Given the description of an element on the screen output the (x, y) to click on. 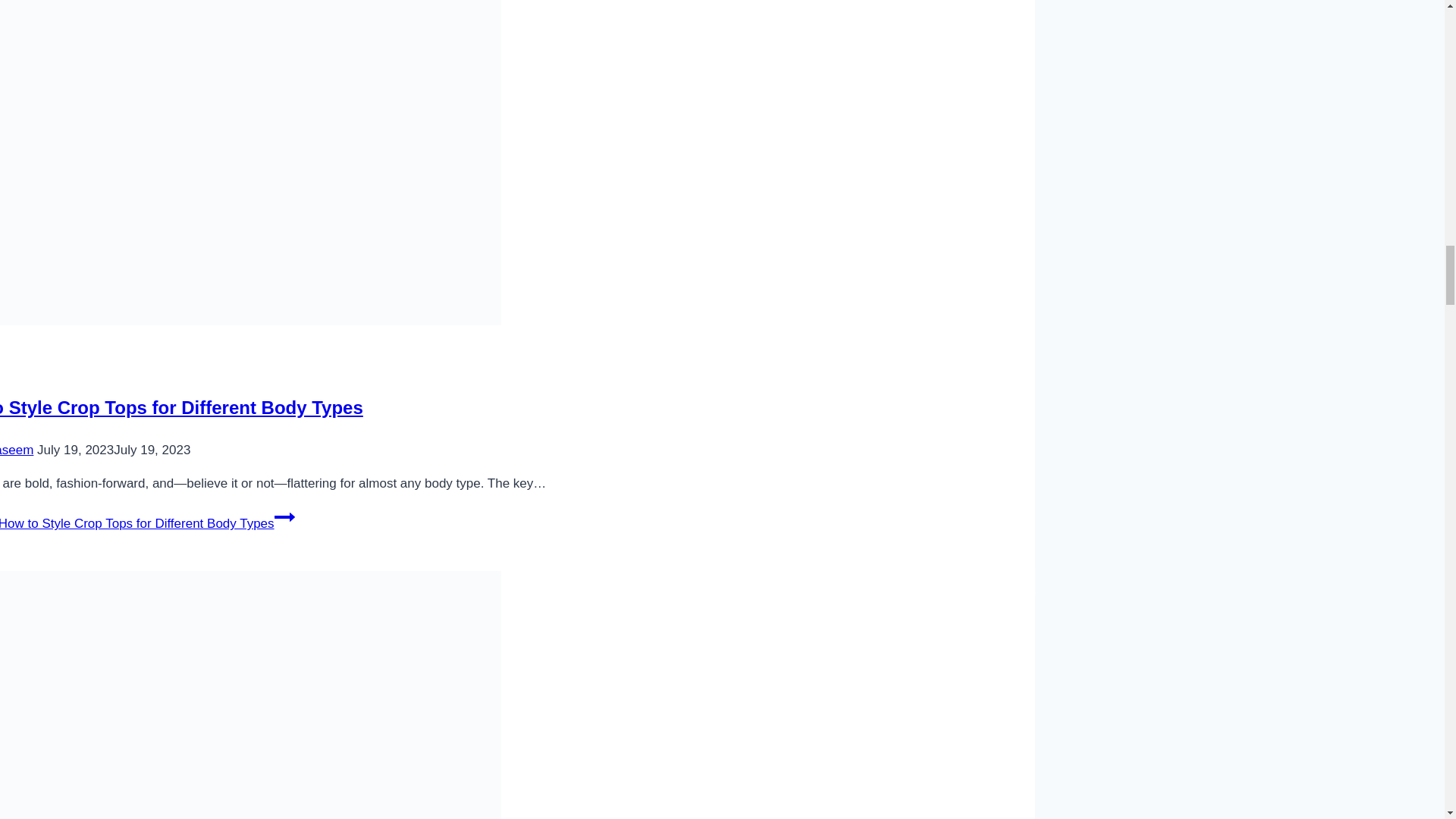
Continue (285, 516)
